Given the description of an element on the screen output the (x, y) to click on. 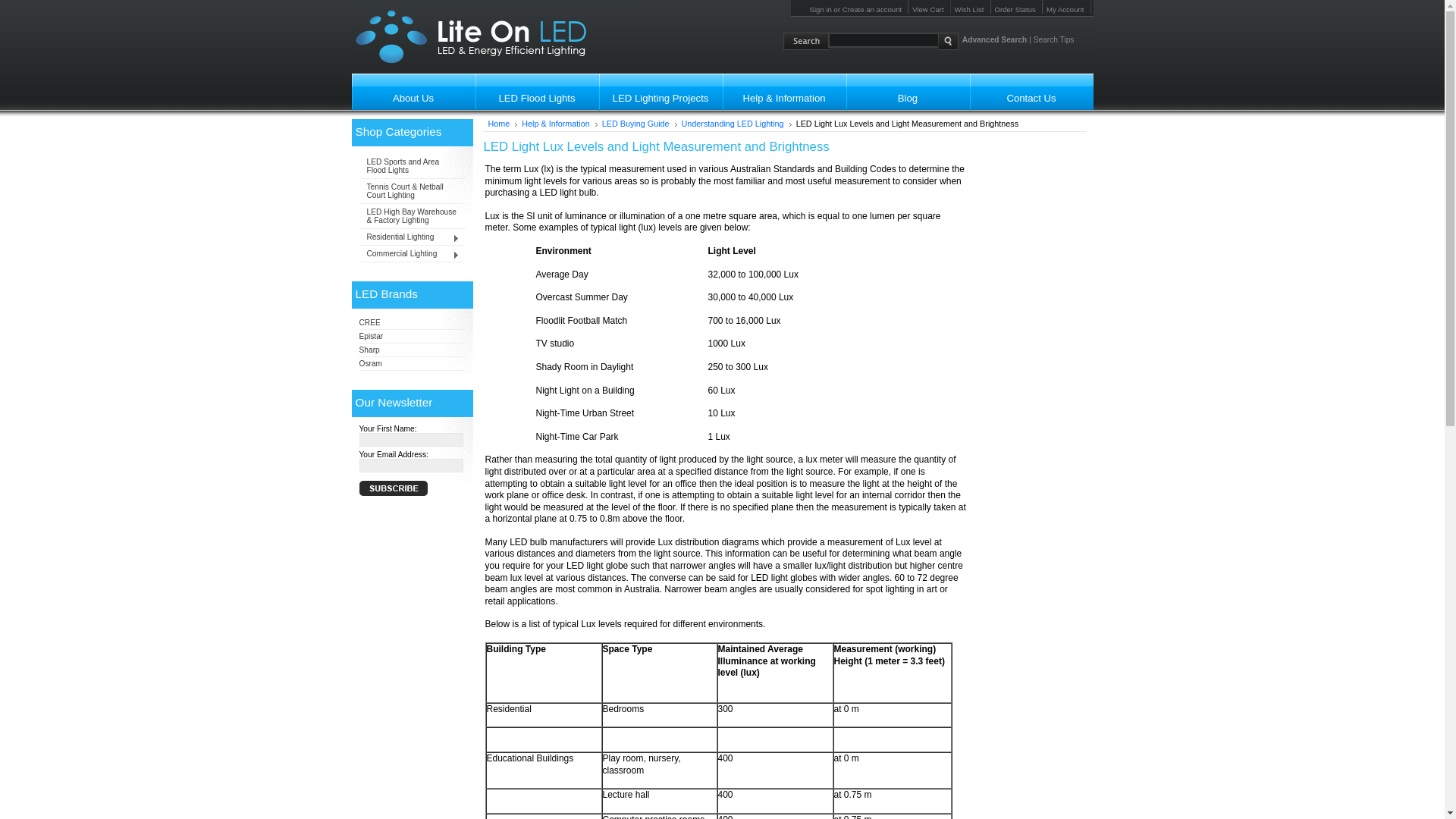
Tennis Court & Netball Court Lighting Element type: text (412, 190)
Wish List Element type: text (970, 9)
Create an account Element type: text (871, 9)
Contact Us Element type: text (1030, 92)
CREE Element type: text (369, 322)
Sharp Element type: text (369, 349)
LED High Bay Warehouse & Factory Lighting Element type: text (412, 215)
Advanced Search Element type: text (994, 39)
Understanding LED Lighting Element type: text (736, 123)
Search Tips Element type: text (1053, 39)
My Account Element type: text (1066, 9)
LED Buying Guide Element type: text (639, 123)
Home Element type: text (502, 123)
Blog Element type: text (907, 92)
LED Lighting Projects Element type: text (660, 92)
Osram Element type: text (370, 363)
Epistar Element type: text (371, 336)
LED Sports and Area Flood Lights Element type: text (412, 165)
Help & Information Element type: text (783, 92)
Help & Information Element type: text (558, 123)
About Us Element type: text (413, 92)
Sign in Element type: text (820, 9)
View Cart Element type: text (929, 9)
Order Status Element type: text (1016, 9)
LED Flood Lights Element type: text (536, 92)
